Given the description of an element on the screen output the (x, y) to click on. 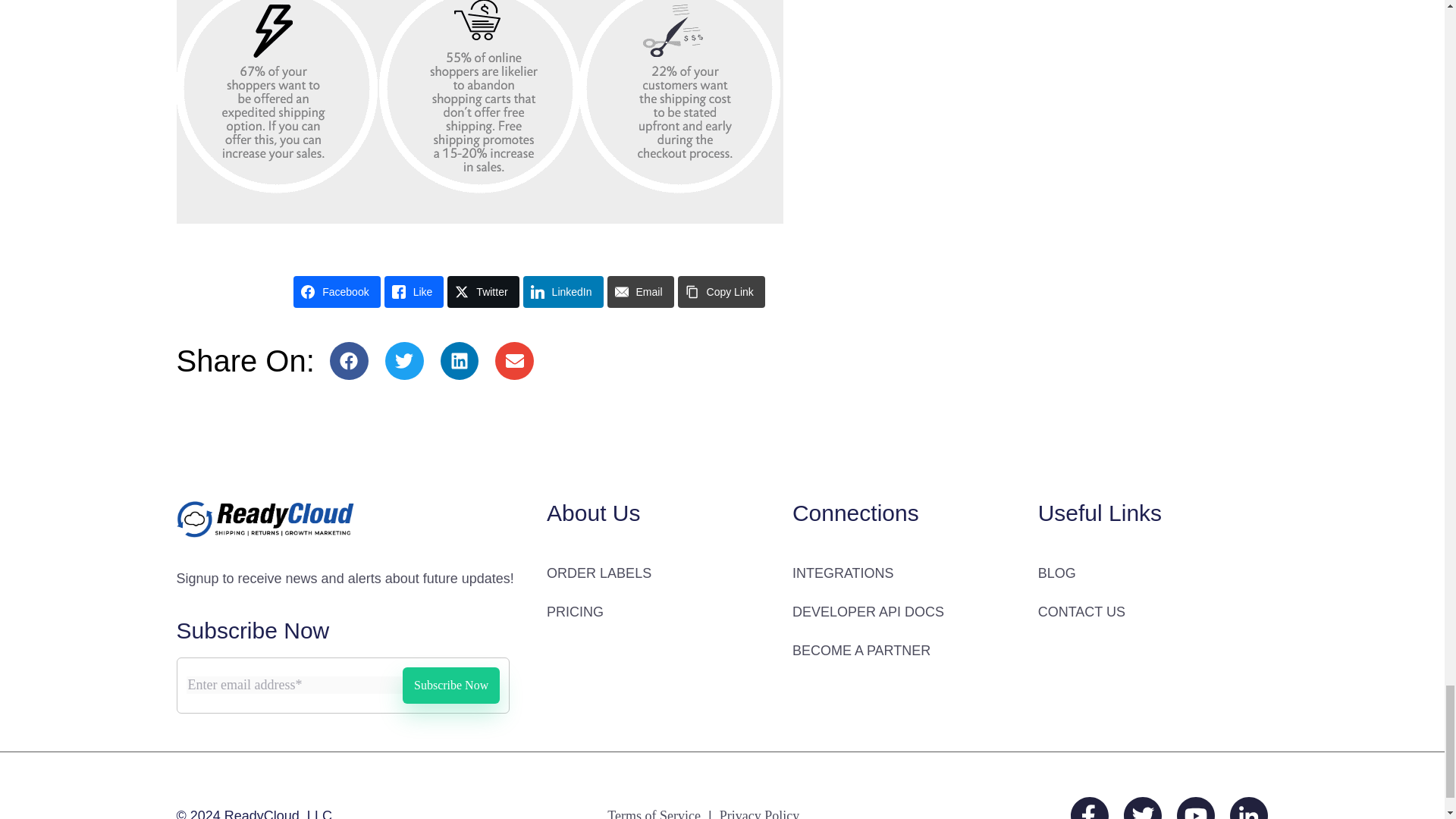
Share on Facebook (337, 291)
Share on LinkedIn (563, 291)
Subscribe Now (451, 685)
Share on Email (640, 291)
Share on Twitter (482, 291)
Share on Like (414, 291)
Share on Copy Link (721, 291)
